Given the description of an element on the screen output the (x, y) to click on. 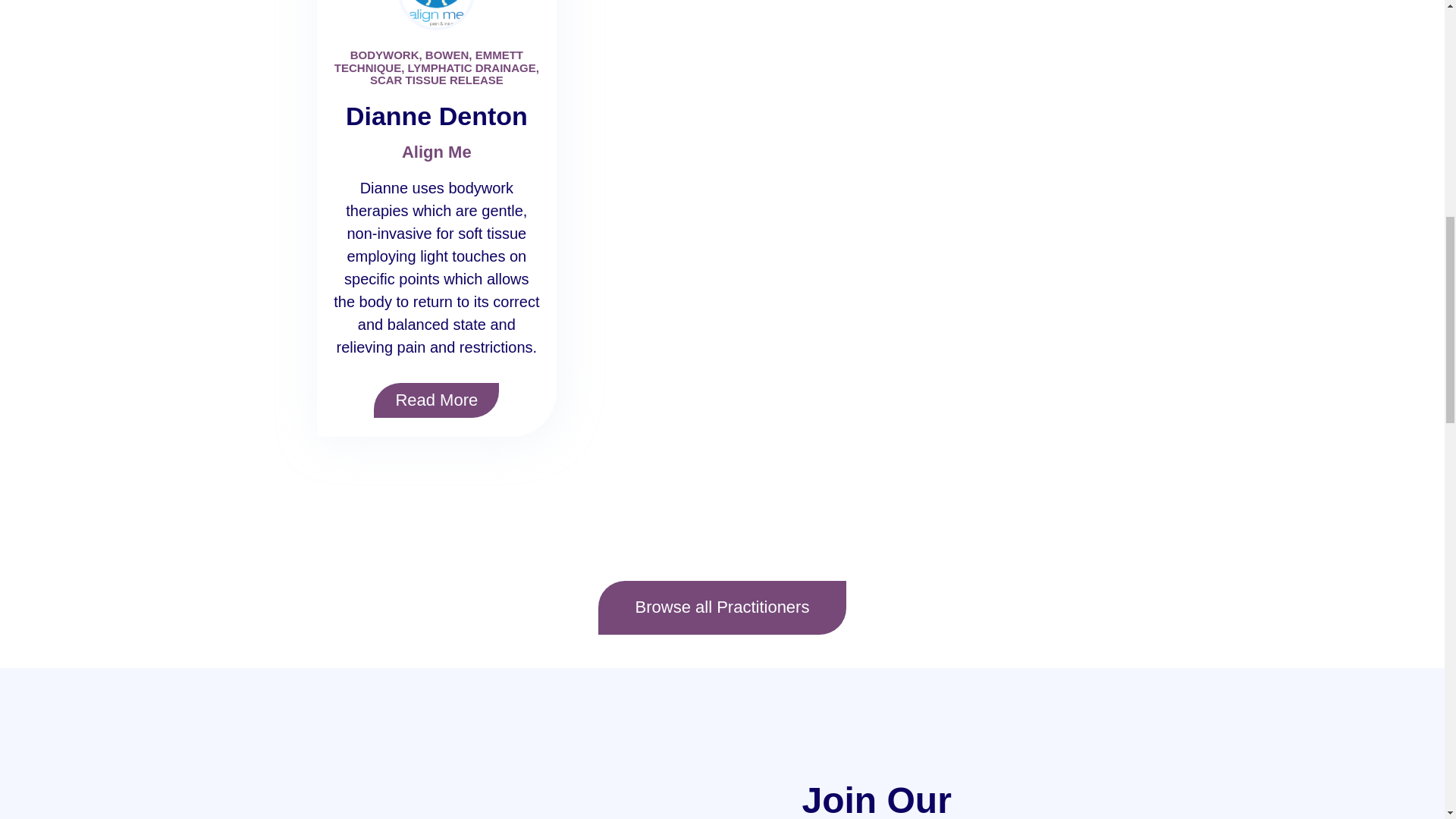
Browse all Practitioners (722, 606)
Read More (436, 400)
BODYWORK (384, 54)
EMMETT TECHNIQUE (428, 61)
Dianne Denton (436, 115)
SCAR TISSUE RELEASE (436, 79)
Align Me (436, 151)
LYMPHATIC DRAINAGE (471, 67)
BOWEN (446, 54)
